Given the description of an element on the screen output the (x, y) to click on. 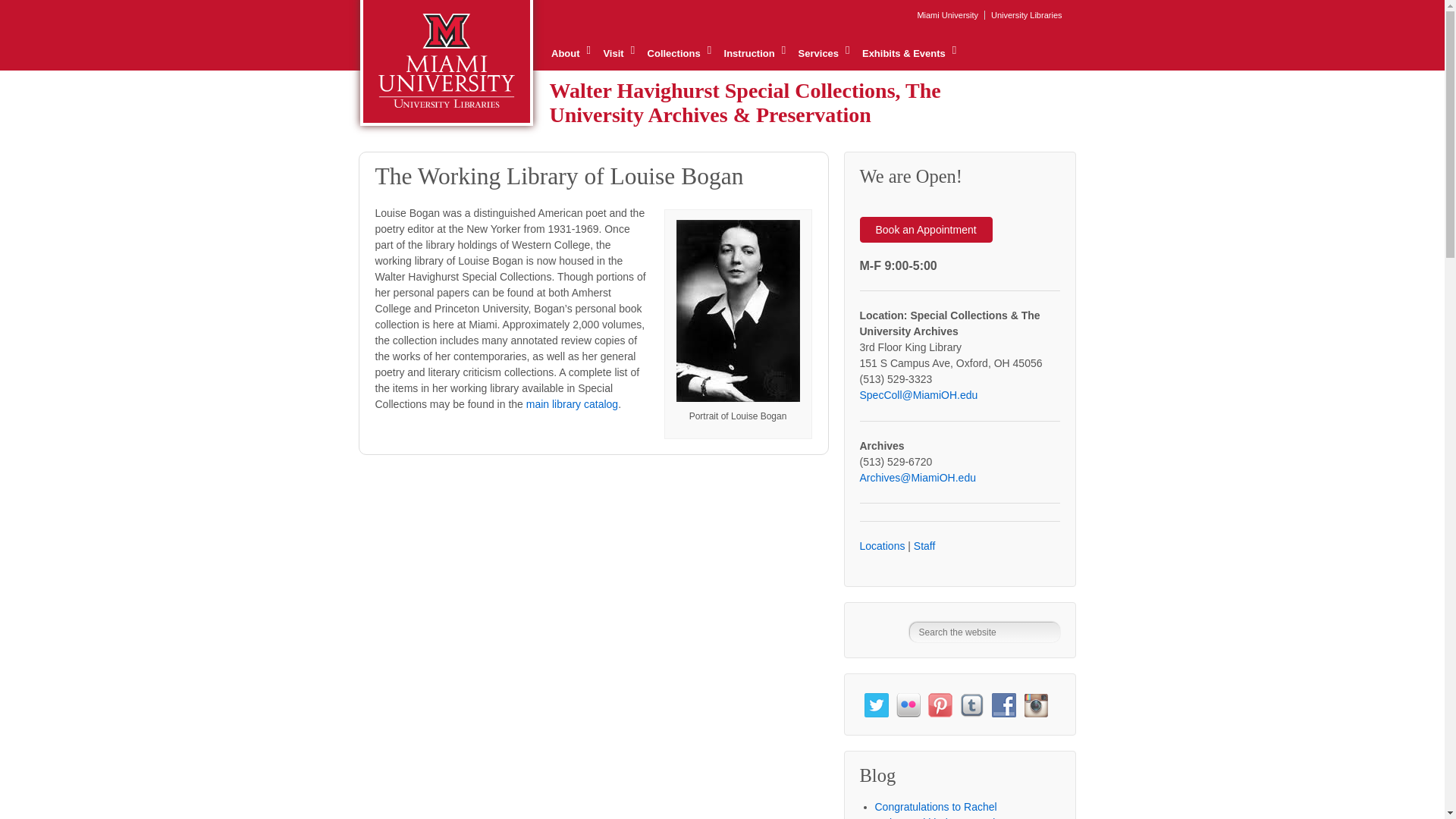
Follow Us on Pinterest (940, 704)
Follow Us on Facebook (1003, 704)
Follow Us on Instagram (1035, 704)
Collections (678, 53)
Follow Us on Tumblr (971, 704)
Follow Us on Twitter (876, 704)
Miami University (946, 14)
Visit (618, 53)
Follow Us on Flickr (908, 704)
Services (823, 53)
Instruction (754, 53)
About (570, 53)
Book an Appointment (926, 229)
main library catalog (571, 404)
University Libraries (1024, 14)
